Given the description of an element on the screen output the (x, y) to click on. 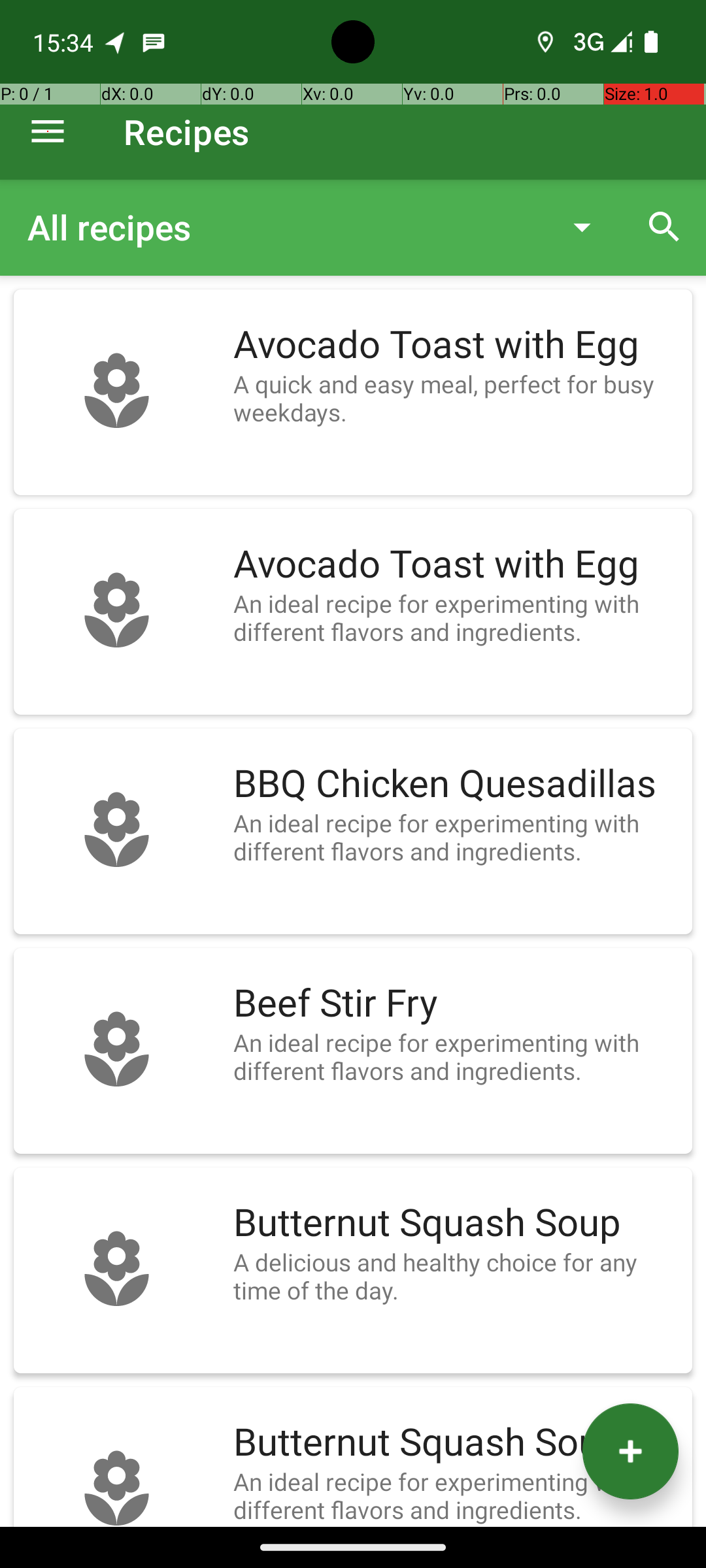
Avocado Toast with Egg Element type: android.widget.TextView (455, 344)
BBQ Chicken Quesadillas Element type: android.widget.TextView (455, 783)
Beef Stir Fry Element type: android.widget.TextView (455, 1003)
Butternut Squash Soup Element type: android.widget.TextView (455, 1222)
